Given the description of an element on the screen output the (x, y) to click on. 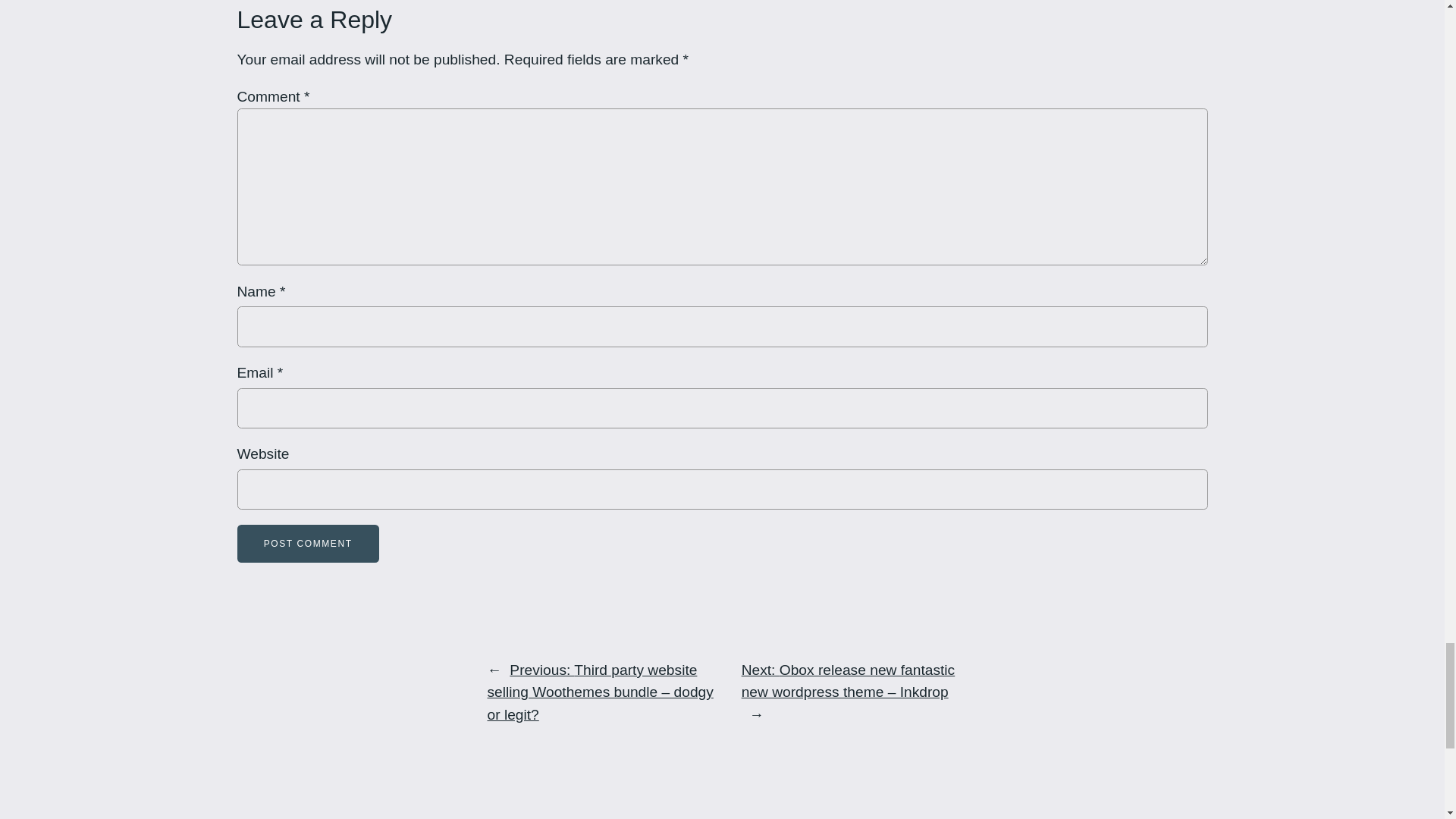
Post Comment (306, 543)
Post Comment (306, 543)
